Given the description of an element on the screen output the (x, y) to click on. 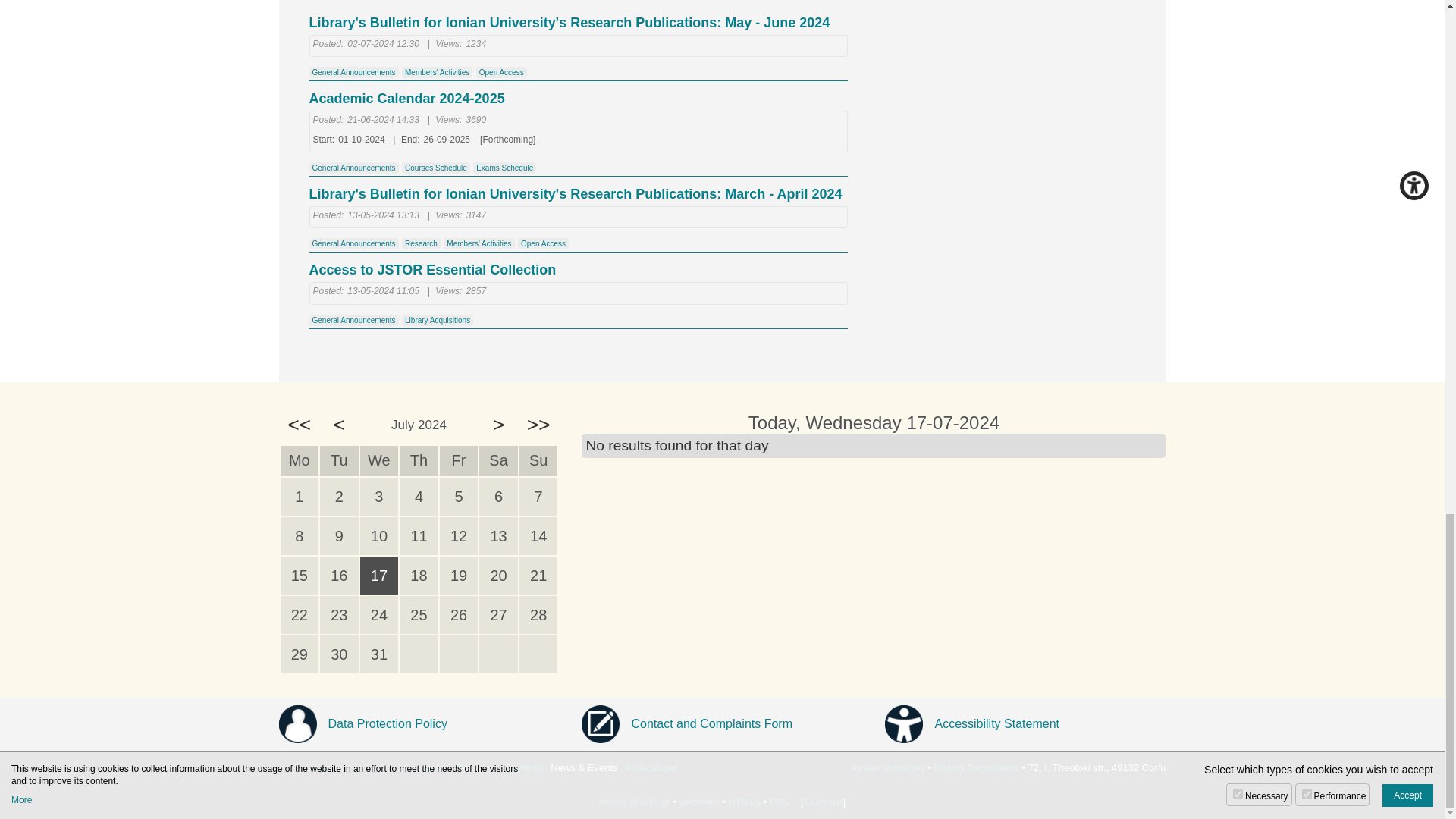
05-07-2024 (459, 496)
06-07-2024 (498, 496)
09-07-2024 (339, 535)
14-07-2024 (538, 535)
13-07-2024 (498, 535)
04-07-2024 (418, 496)
07-07-2024 (538, 496)
08-07-2024 (299, 535)
03-07-2024 (378, 496)
02-07-2024 (339, 496)
11-07-2024 (418, 535)
10-07-2024 (378, 535)
12-07-2024 (459, 535)
01-07-2024 (299, 496)
